Given the description of an element on the screen output the (x, y) to click on. 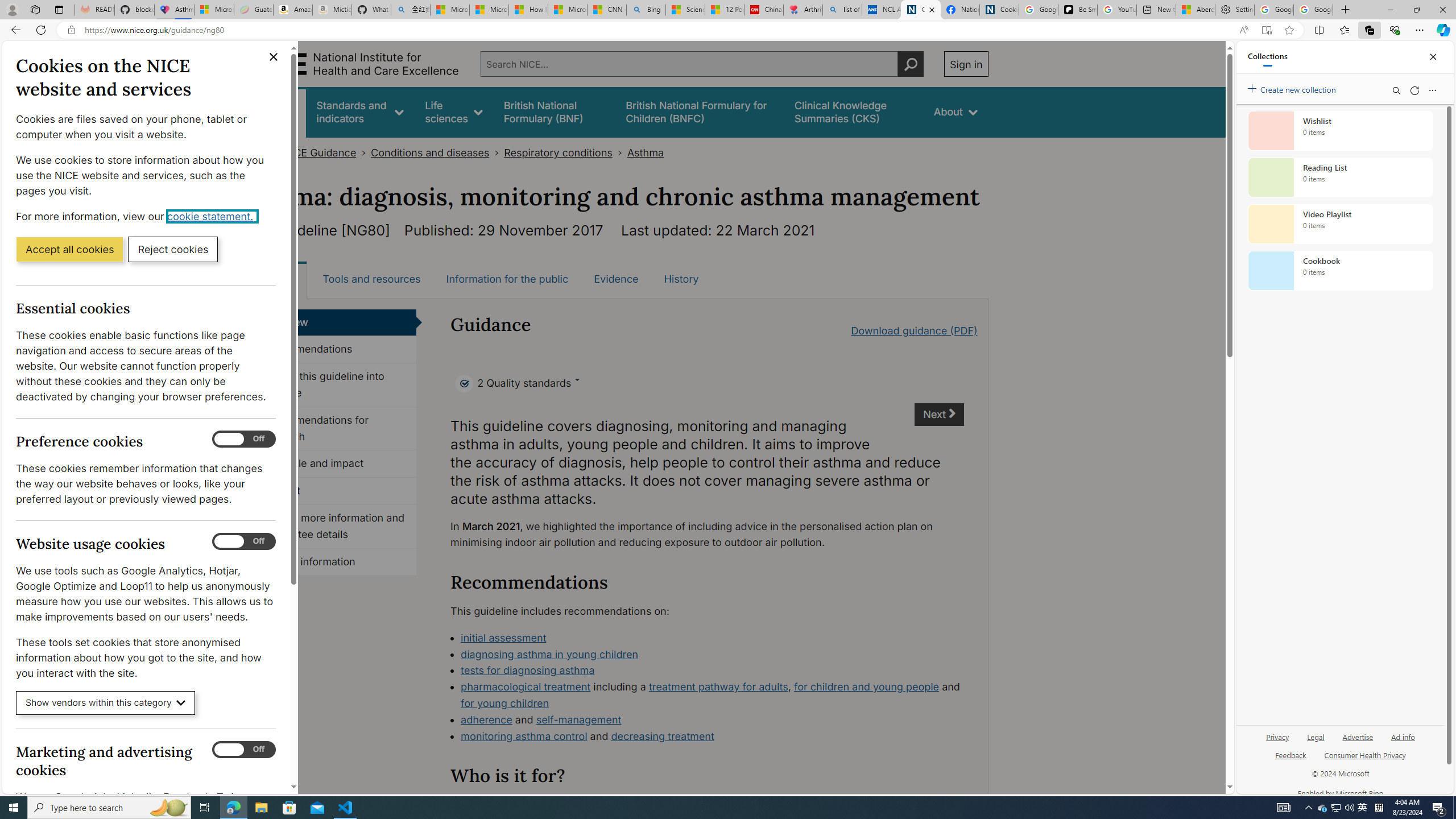
Cookies (999, 9)
Close cookie banner (273, 56)
adherence and self-management (711, 719)
NICE Guidance> (326, 152)
Download guidance (PDF) (913, 330)
Recommendations for research (333, 428)
